Given the description of an element on the screen output the (x, y) to click on. 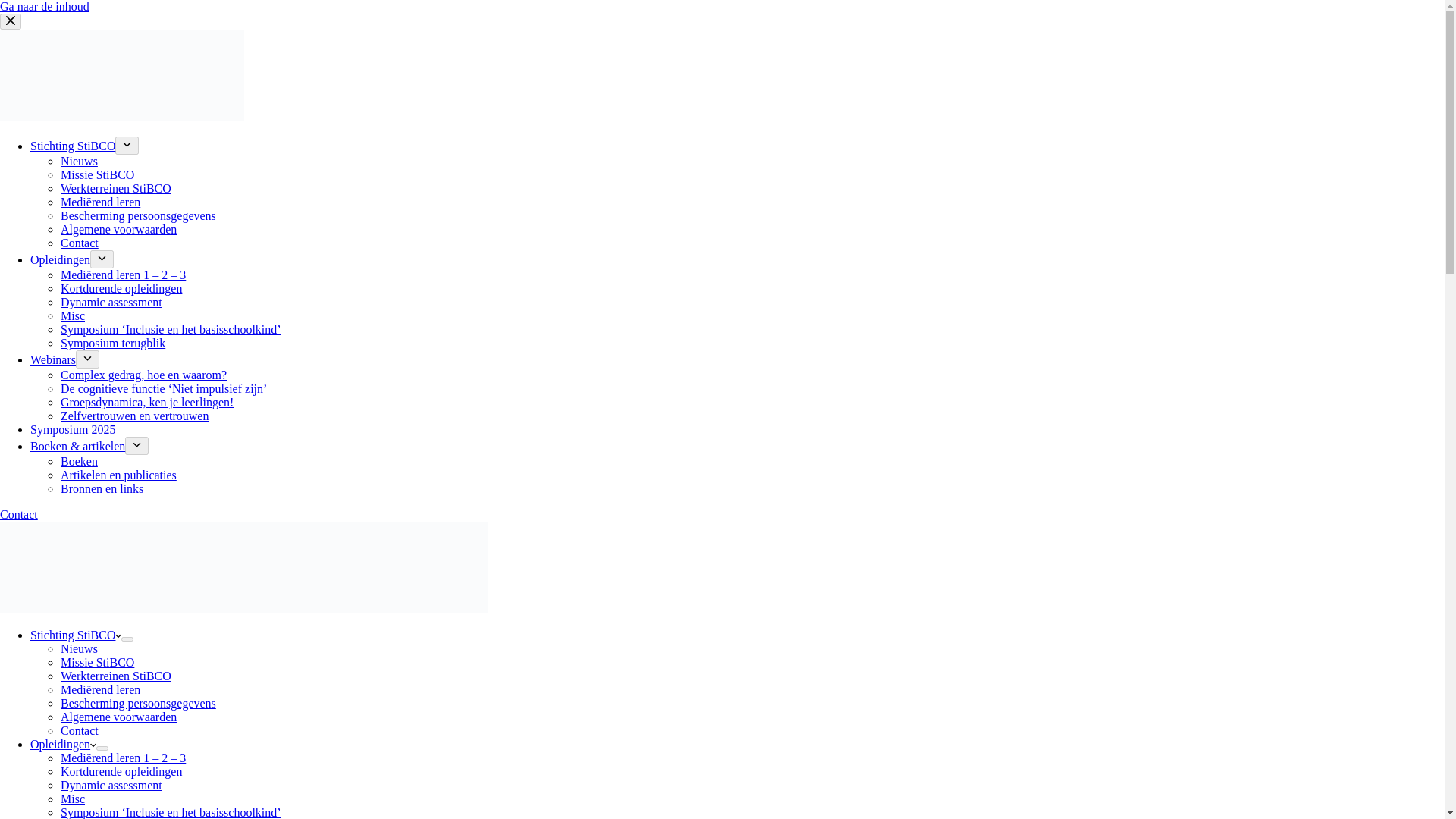
Misc (72, 315)
Bescherming persoonsgegevens (138, 215)
Groepsdynamica, ken je leerlingen! (146, 401)
Contact (18, 513)
Symposium terugblik (113, 342)
Werkterreinen StiBCO (116, 187)
Boeken (79, 461)
Artikelen en publicaties (118, 474)
Werkterreinen StiBCO (116, 675)
Stichting StiBCO (75, 634)
